Given the description of an element on the screen output the (x, y) to click on. 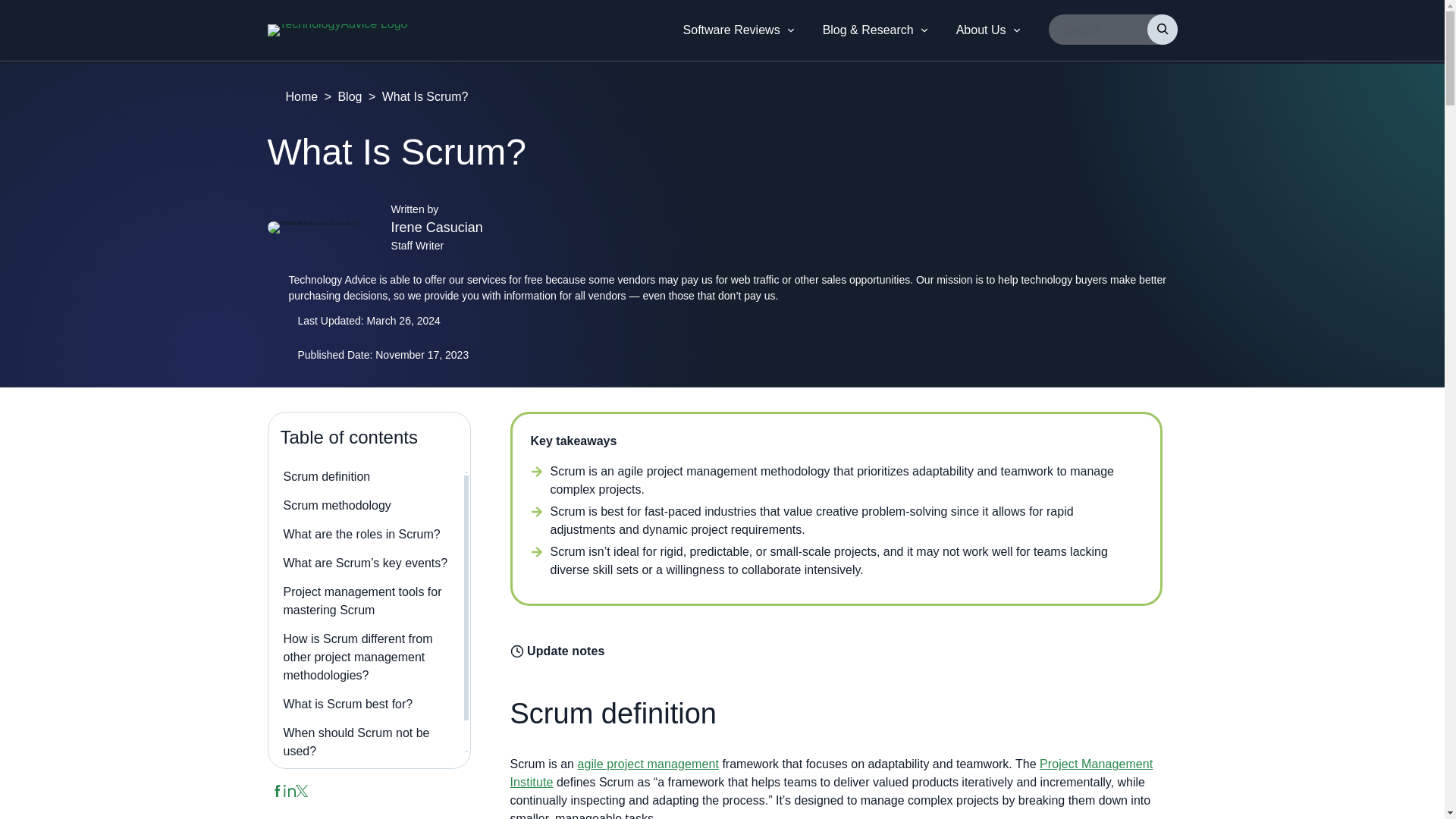
Scrum methodology (337, 504)
Project management tools for mastering Scrum (362, 600)
What is Scrum best for? (348, 703)
What are the roles in Scrum? (362, 533)
Software Reviews (731, 30)
Scrum definition (327, 476)
